Given the description of an element on the screen output the (x, y) to click on. 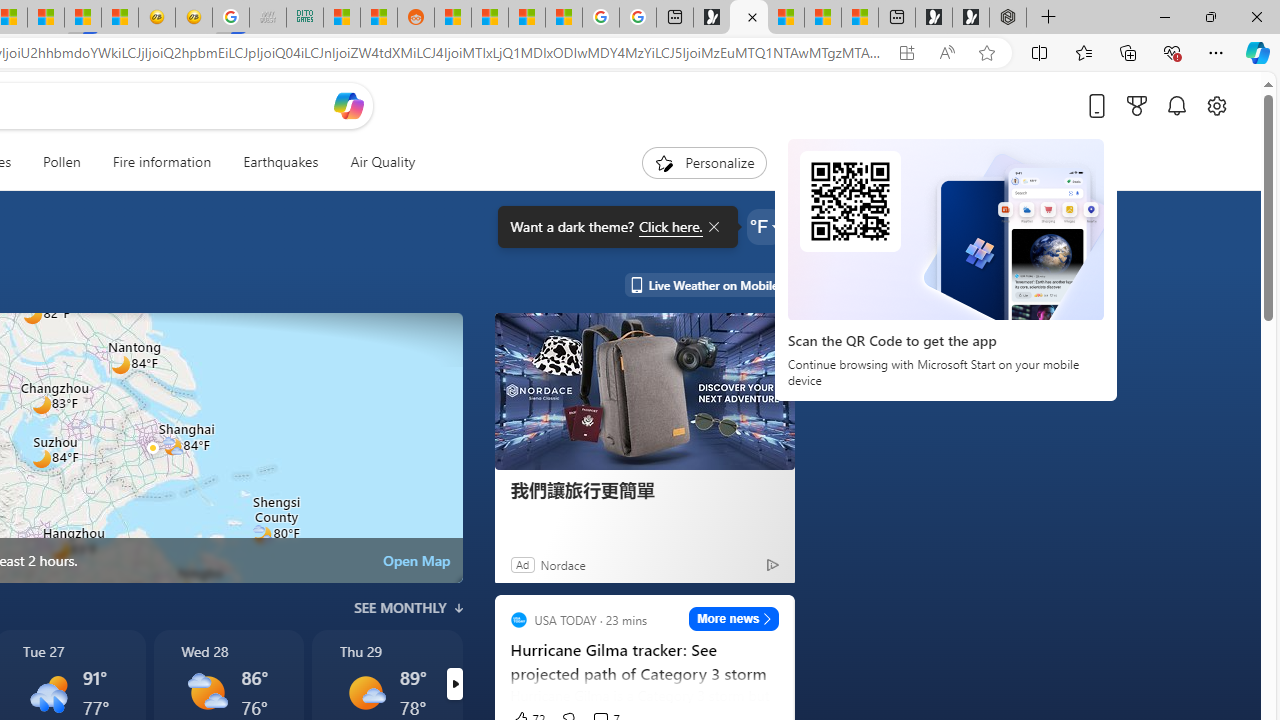
Switch right (454, 683)
R******* | Trusted Community Engagement and Contributions (453, 17)
These 3 Stocks Pay You More Than 5% to Own Them (860, 17)
